Given the description of an element on the screen output the (x, y) to click on. 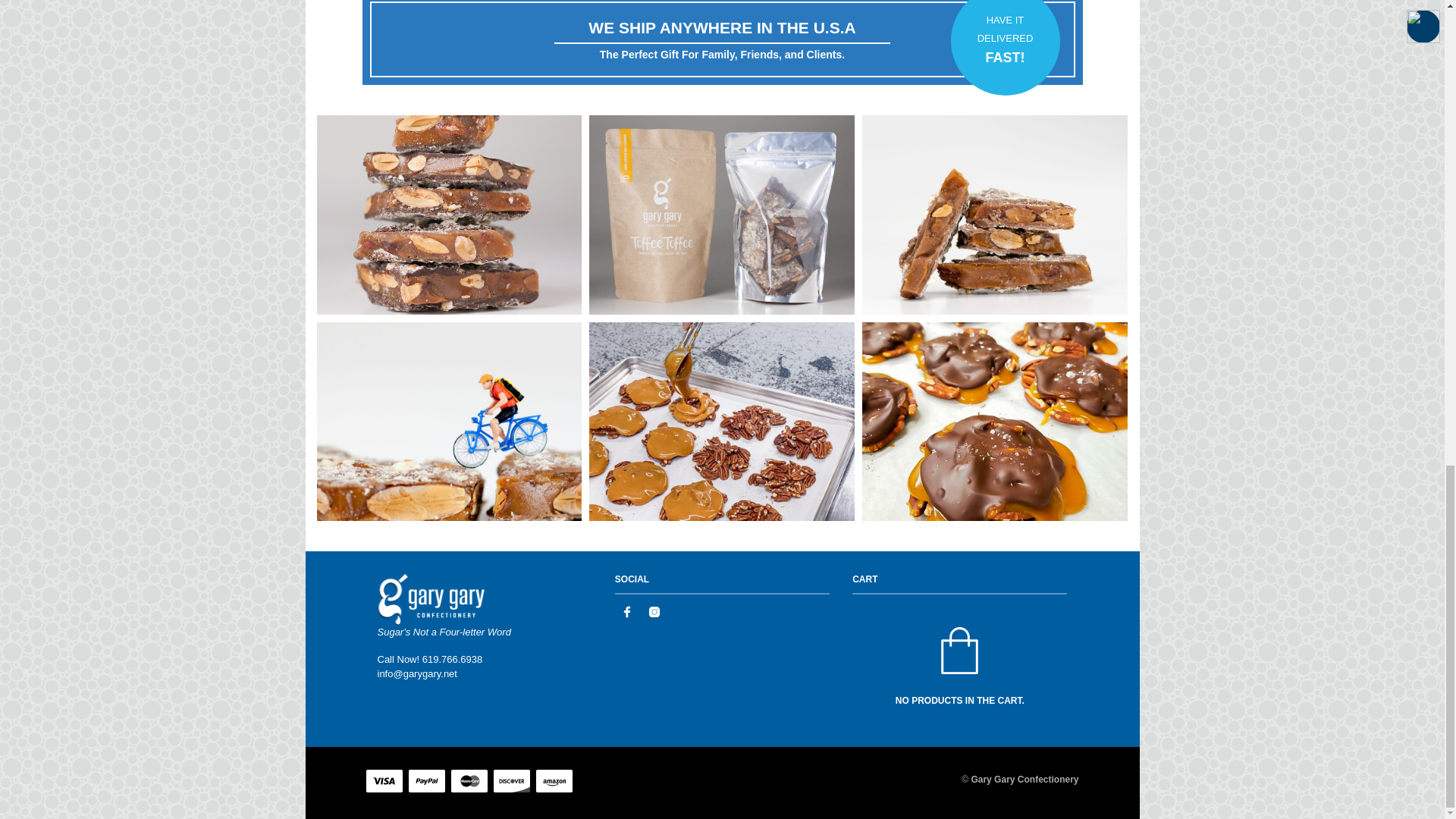
619.766.6938 (452, 659)
Stacked and Loaded (449, 214)
Turtle Alertle (993, 421)
Almonds. Almonds. (993, 214)
